Given the description of an element on the screen output the (x, y) to click on. 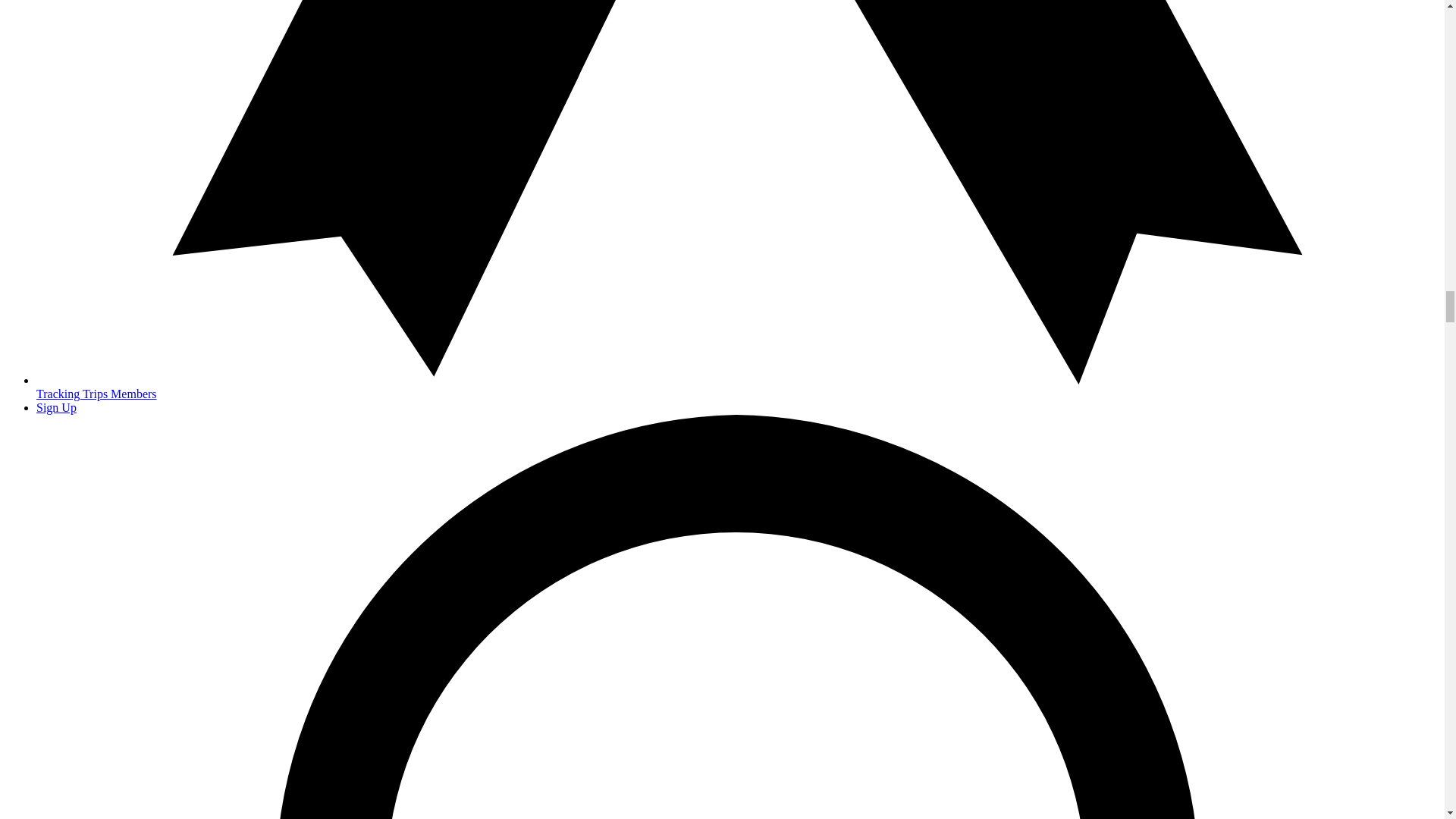
Sign Up (56, 407)
